Given the description of an element on the screen output the (x, y) to click on. 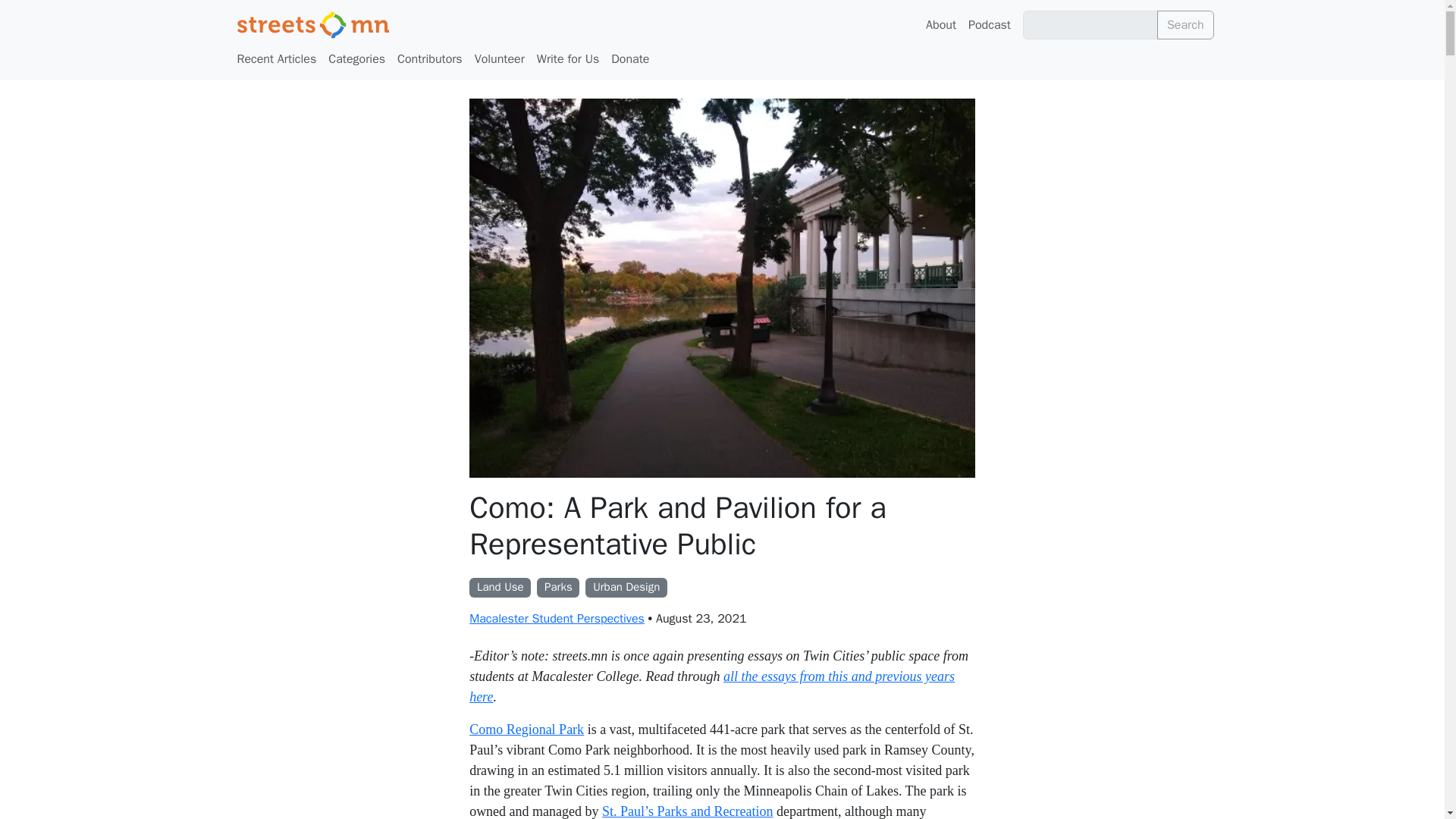
Como Regional Park (525, 729)
Categories (356, 59)
Recent Articles (275, 59)
About (941, 24)
Search (1185, 24)
Land Use (499, 585)
Urban Design (625, 585)
Parks (558, 585)
all the essays from this and previous years here (711, 686)
Write for Us (568, 59)
Posts by Macalester Student Perspectives (556, 618)
Macalester Student Perspectives (556, 618)
Volunteer (499, 59)
Search (1185, 24)
Streets.mn (311, 24)
